Given the description of an element on the screen output the (x, y) to click on. 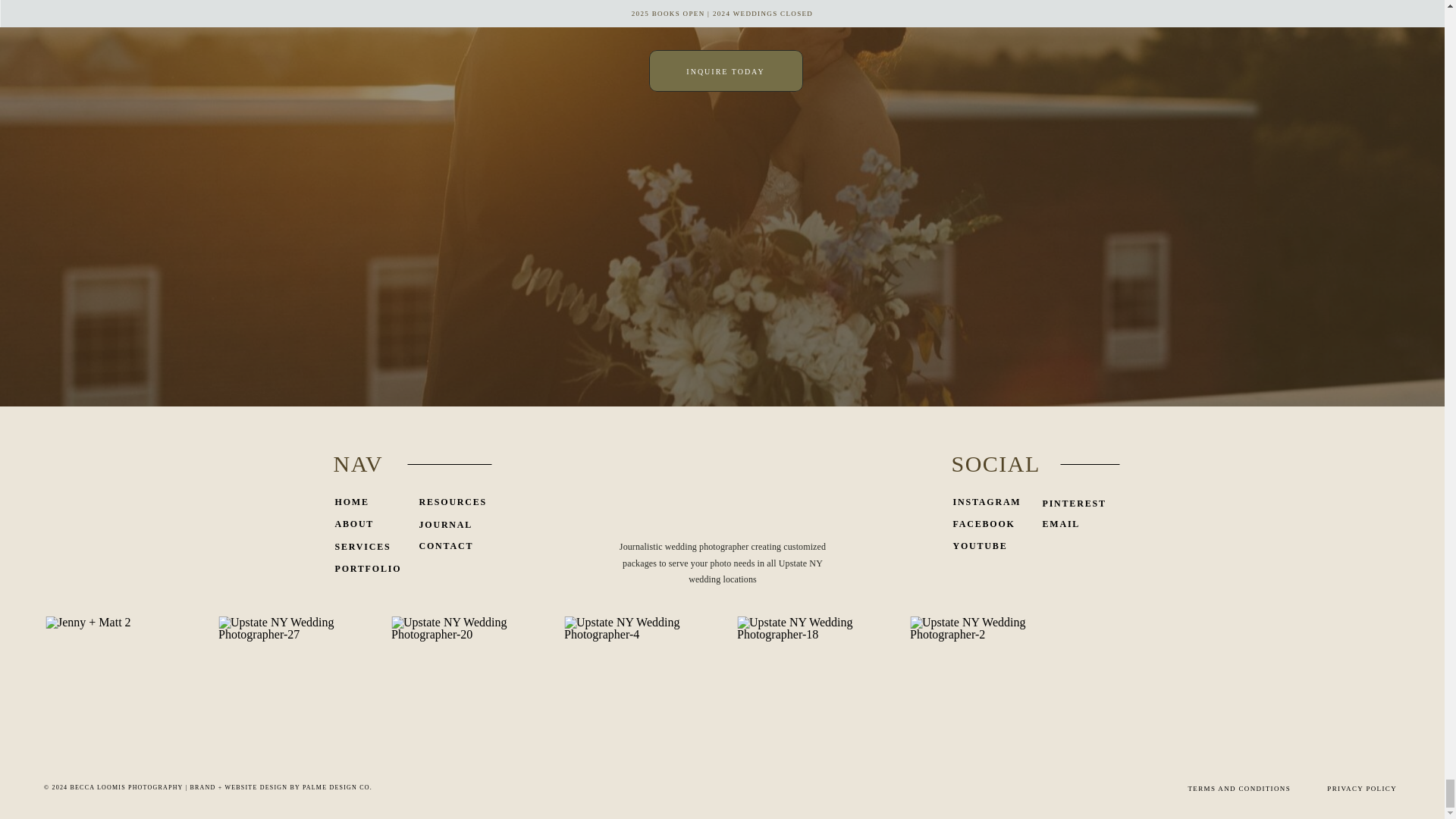
FACEBOOK (988, 525)
Upstate NY Wedding Photographer-4 (632, 685)
RESOURCES (455, 503)
ABOUT (359, 525)
INSTAGRAM (987, 503)
Upstate NY Wedding Photographer-13 (1152, 685)
CONTACT (448, 547)
EMAIL (1078, 525)
Upstate NY Wedding Photographer-2 (979, 685)
Upstate NY Wedding Photographer-18 (805, 685)
YOUTUBE (988, 547)
PINTEREST (1083, 505)
PRIVACY POLICY (1358, 787)
Upstate NY Wedding Photographer-27 (287, 685)
SERVICES (365, 547)
